Given the description of an element on the screen output the (x, y) to click on. 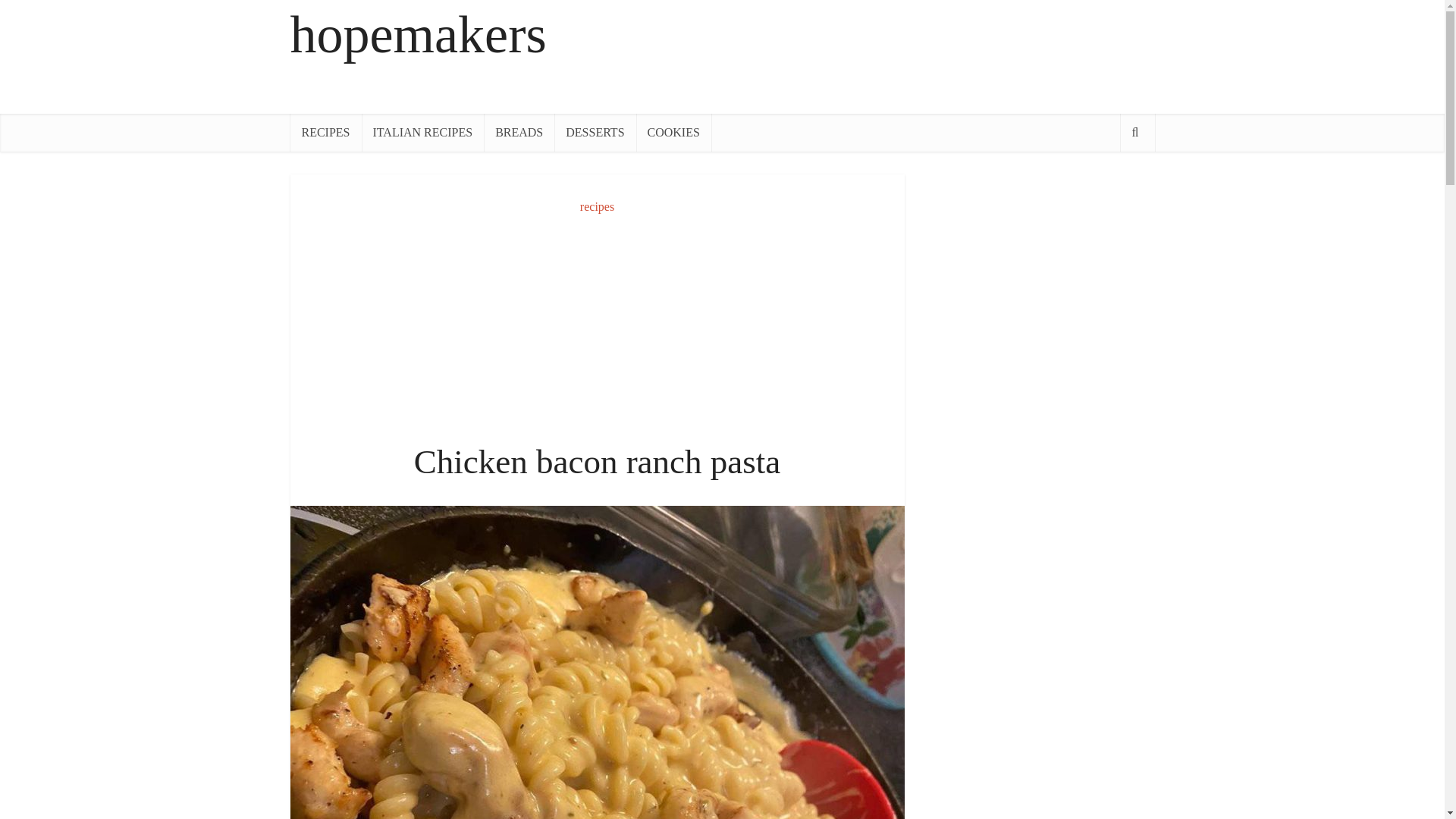
hopemakers (417, 34)
DESSERTS (594, 132)
BREADS (518, 132)
Advertisement (596, 328)
COOKIES (673, 132)
ITALIAN RECIPES (422, 132)
recipes (596, 205)
RECIPES (325, 132)
